Given the description of an element on the screen output the (x, y) to click on. 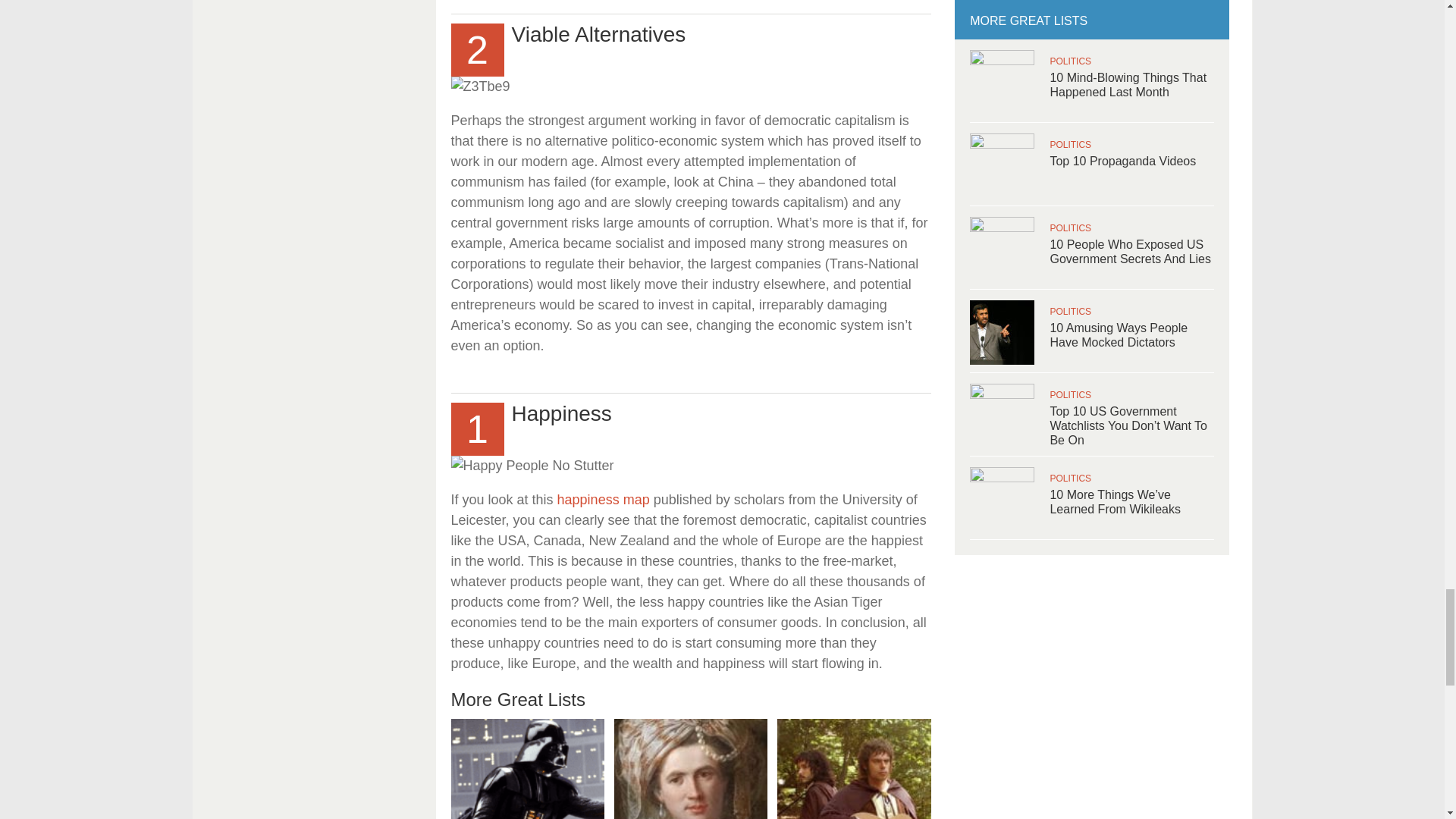
Top 10 Greatest Plot Twists In History (691, 769)
Top 20 Greatest Movies Of All Time (526, 769)
Top 10 Greatest Music Tracks From New Zealand (854, 769)
